Given the description of an element on the screen output the (x, y) to click on. 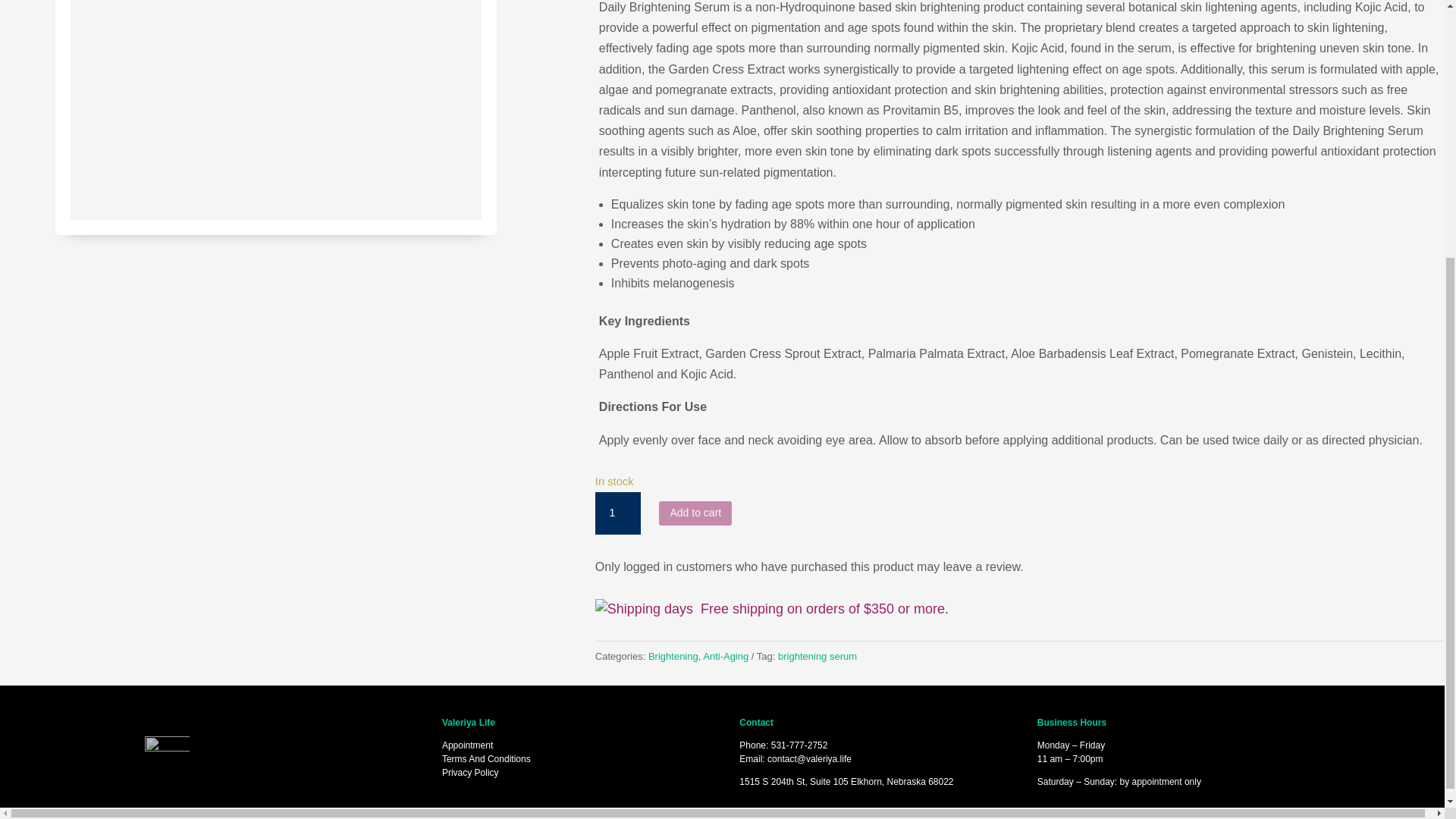
Daily Brightening Serum (275, 110)
BW LOGO (166, 755)
1 (617, 513)
